Given the description of an element on the screen output the (x, y) to click on. 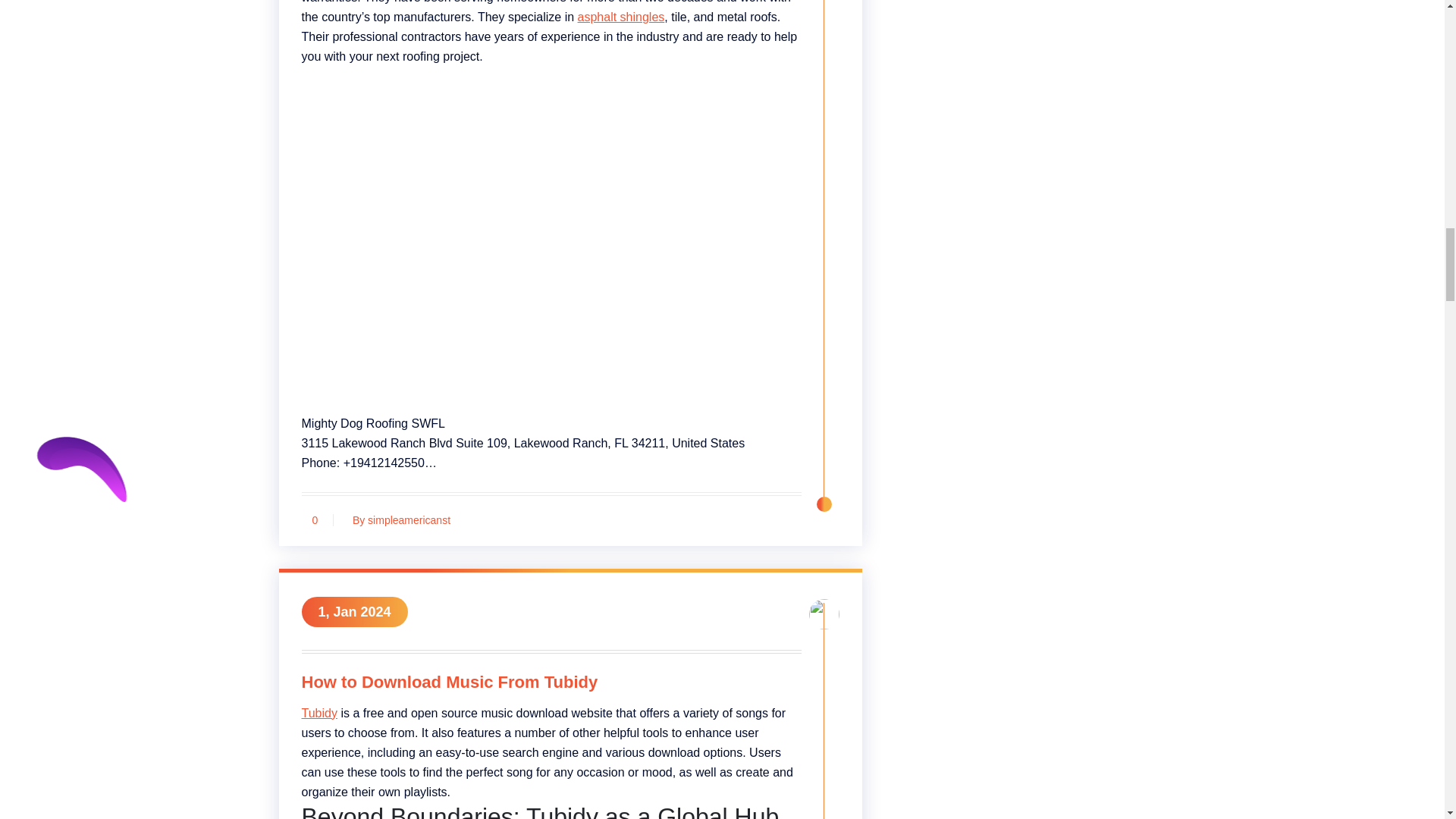
0 (315, 520)
By simpleamericanst (397, 520)
How to Download Music From Tubidy (551, 684)
Tubidy (319, 712)
asphalt shingles (621, 16)
